Given the description of an element on the screen output the (x, y) to click on. 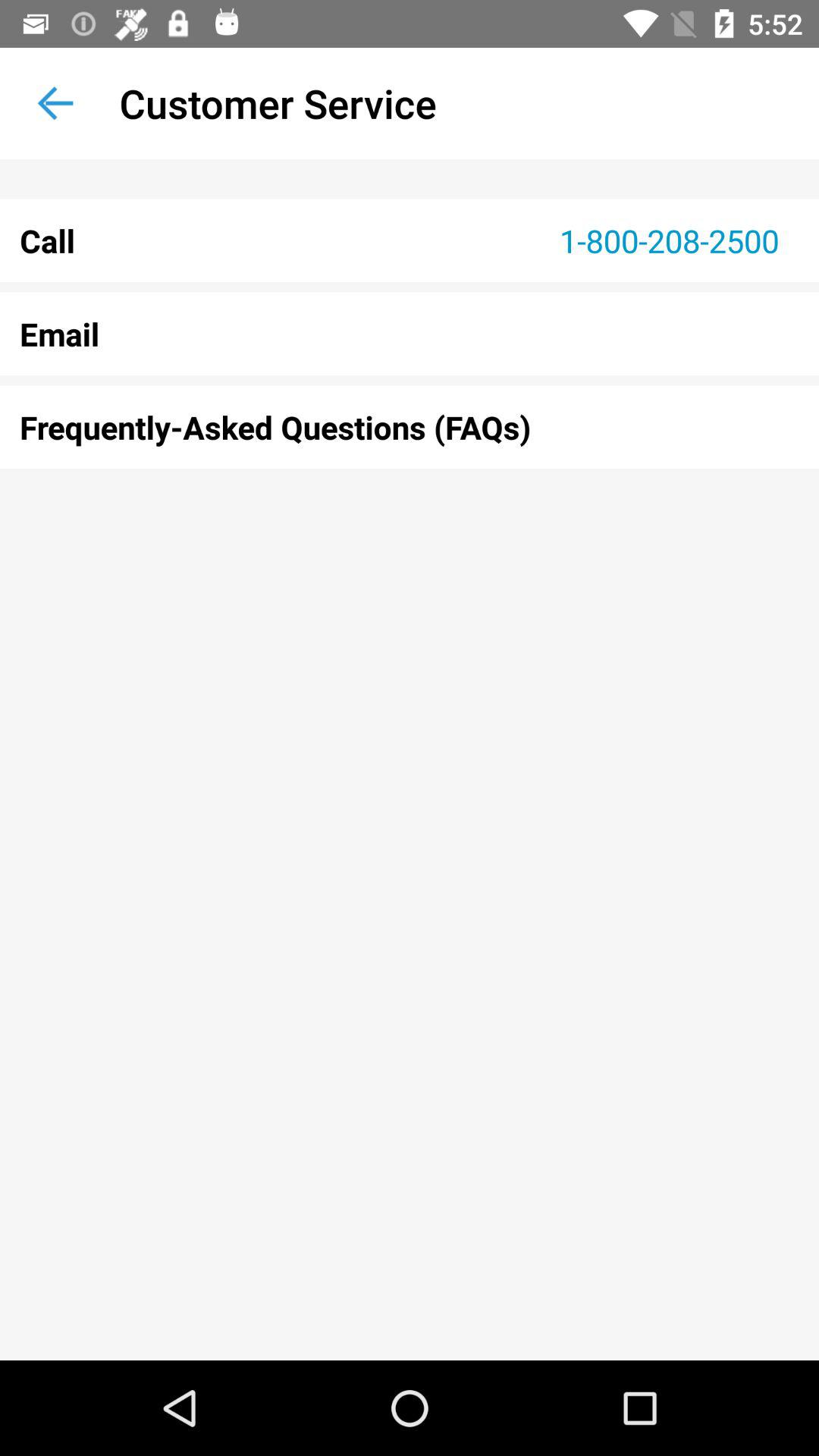
turn on the icon above call item (55, 103)
